Given the description of an element on the screen output the (x, y) to click on. 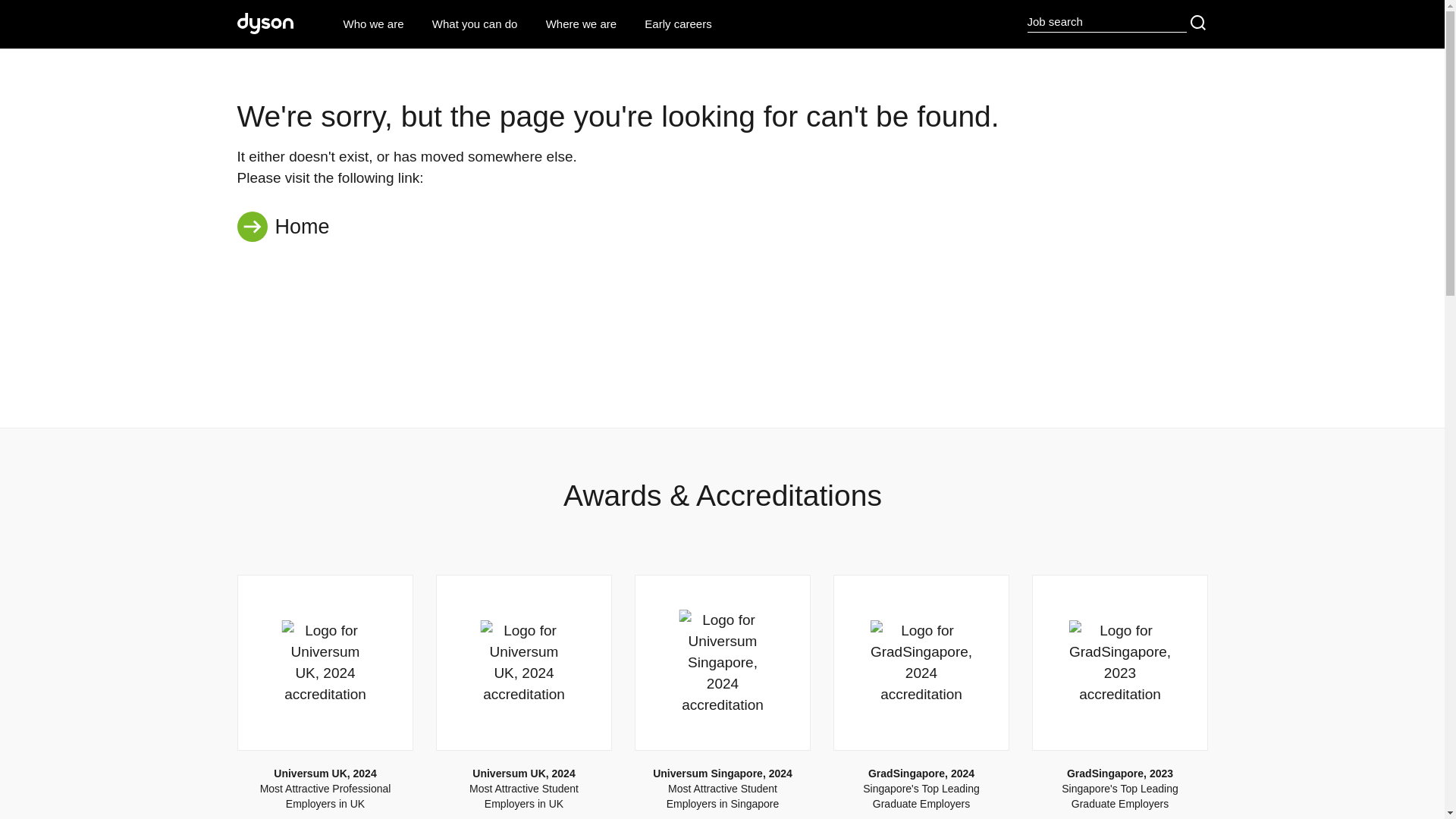
What you can do (475, 24)
Home (721, 220)
Who we are (372, 24)
